Given the description of an element on the screen output the (x, y) to click on. 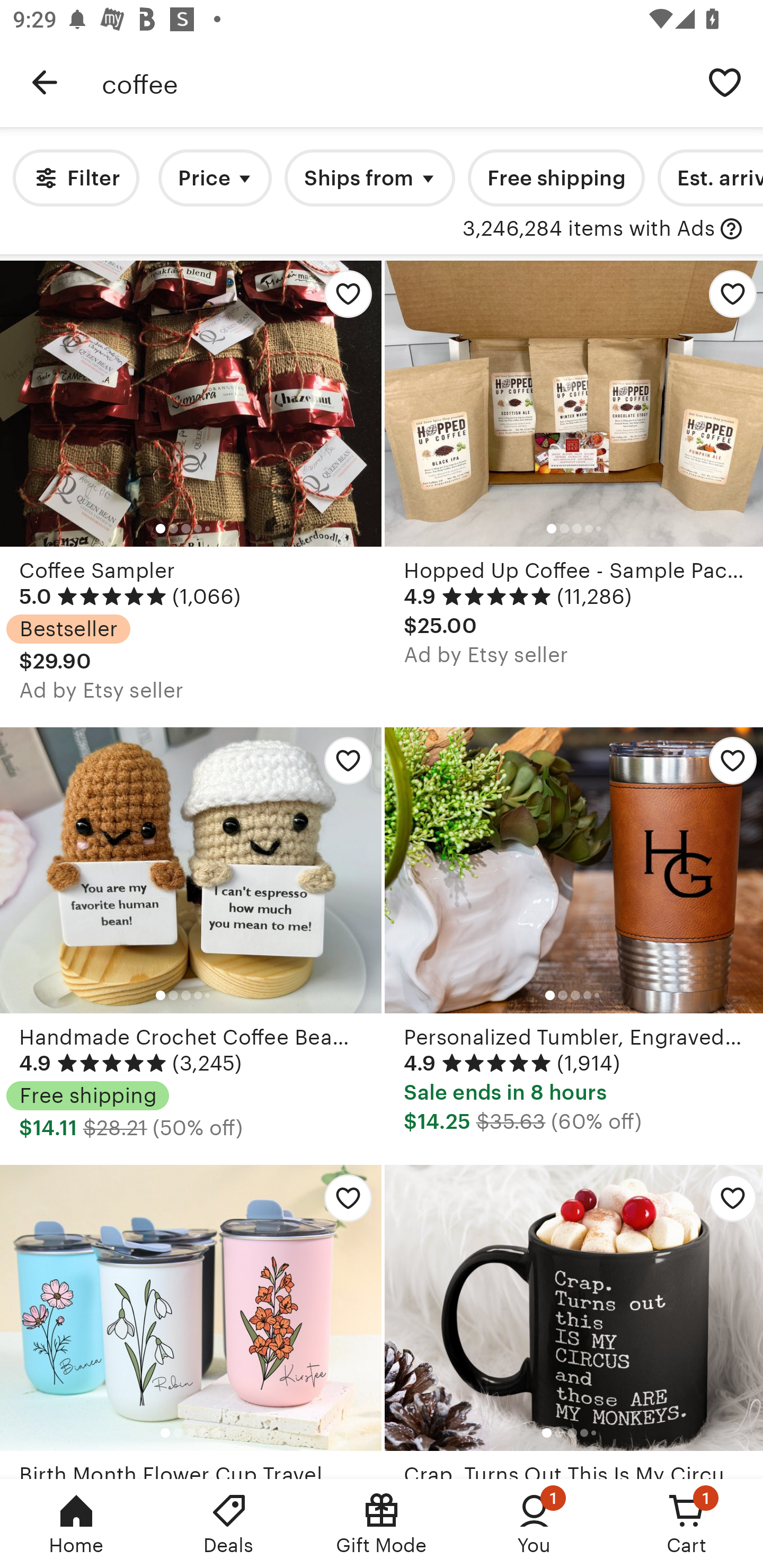
Navigate up (44, 82)
Save search (724, 81)
coffee (393, 82)
Filter (75, 177)
Price (214, 177)
Ships from (369, 177)
Free shipping (555, 177)
3,246,284 items with Ads (588, 228)
with Ads (730, 228)
Add Coffee Sampler to favorites (343, 298)
Deals (228, 1523)
Gift Mode (381, 1523)
You, 1 new notification You (533, 1523)
Cart, 1 new notification Cart (686, 1523)
